Given the description of an element on the screen output the (x, y) to click on. 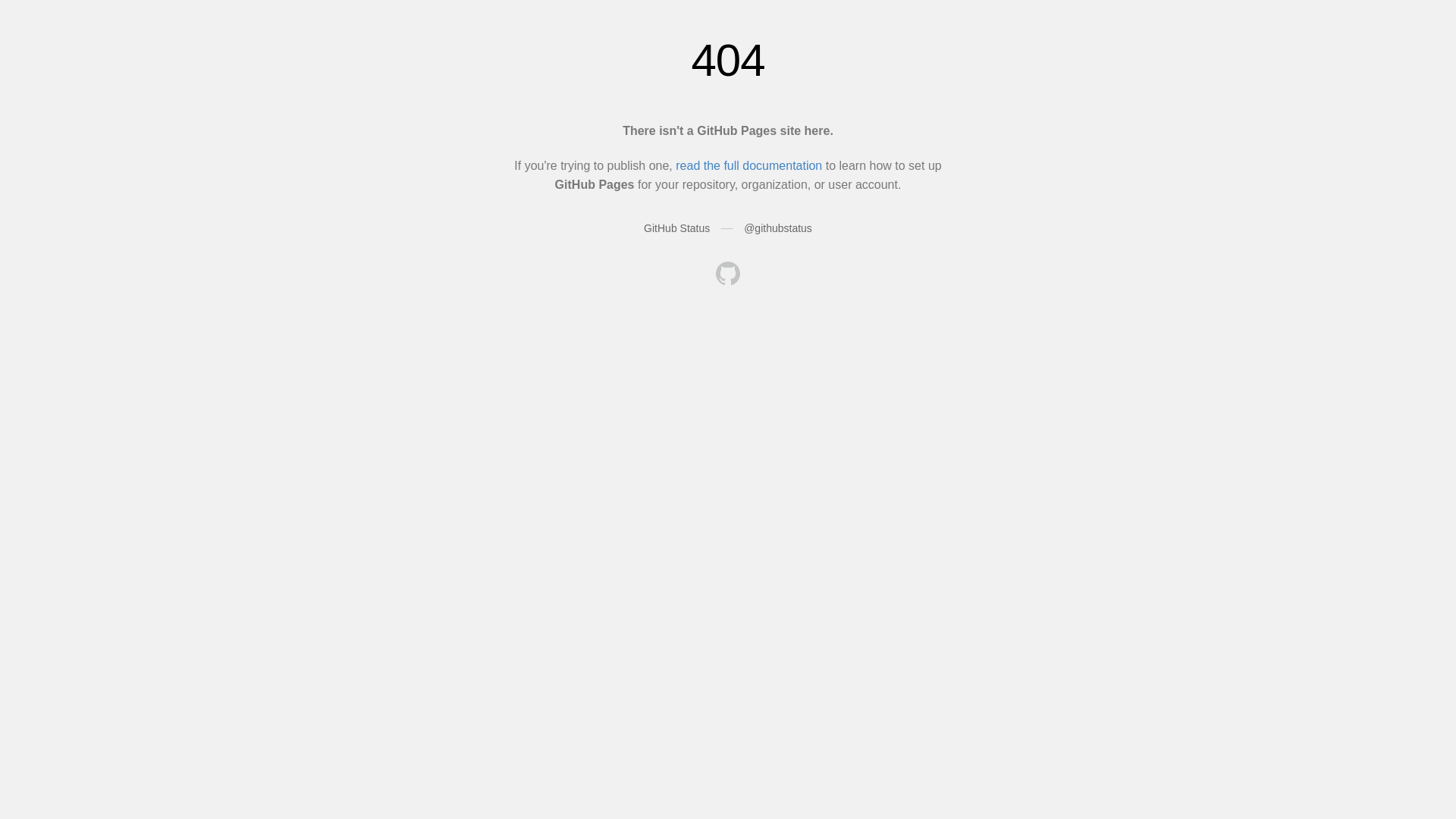
GitHub Status Element type: text (676, 228)
@githubstatus Element type: text (777, 228)
read the full documentation Element type: text (748, 165)
